Given the description of an element on the screen output the (x, y) to click on. 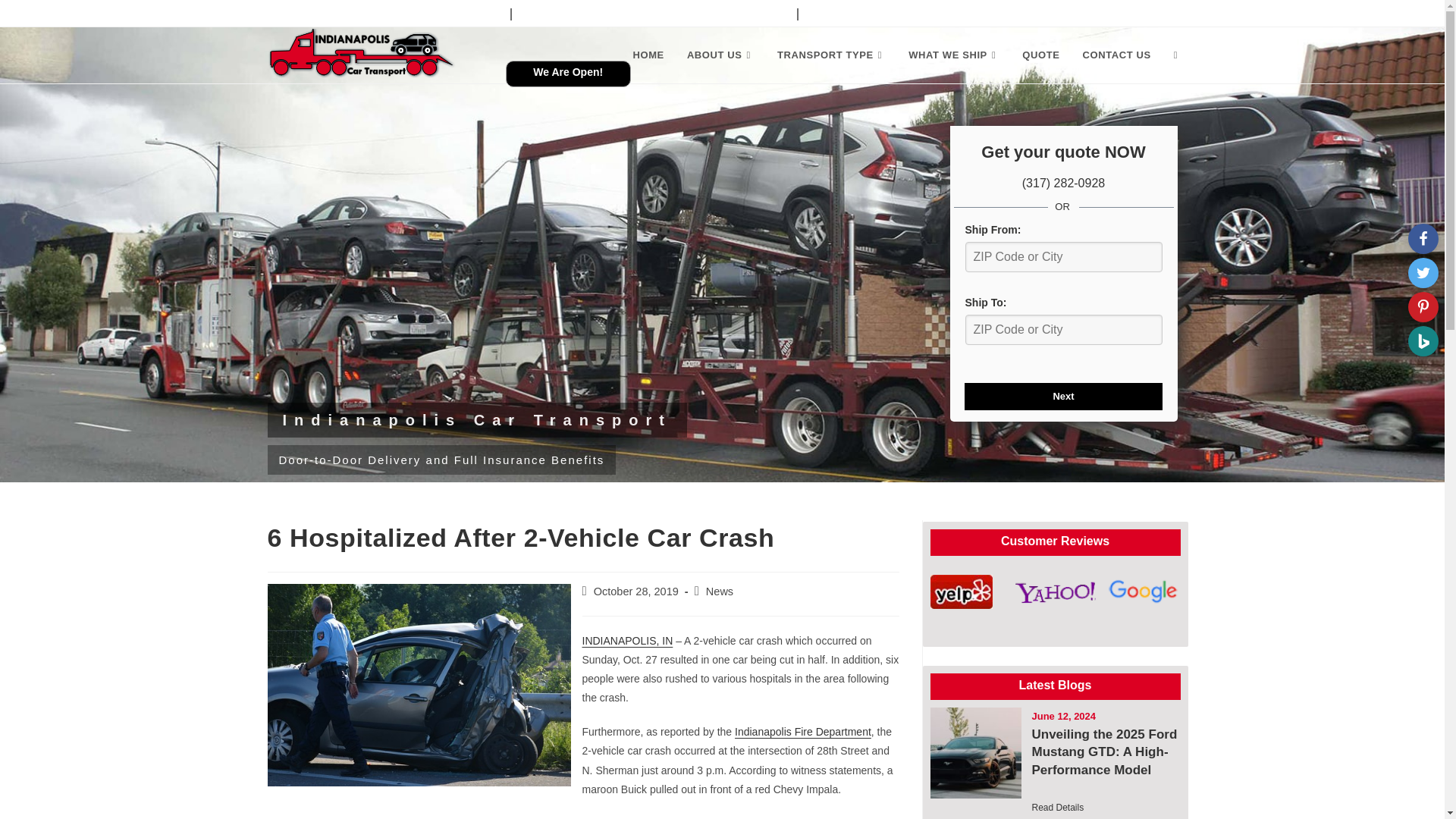
Enter a location (1062, 329)
5305 W 86th St, Indianapolis, IN 46268 (953, 12)
WHAT WE SHIP (953, 55)
QUOTE (1040, 55)
ABOUT US (720, 55)
HOME (648, 55)
CONTACT US (1115, 55)
Enter a location (1062, 256)
TRANSPORT TYPE (830, 55)
